Given the description of an element on the screen output the (x, y) to click on. 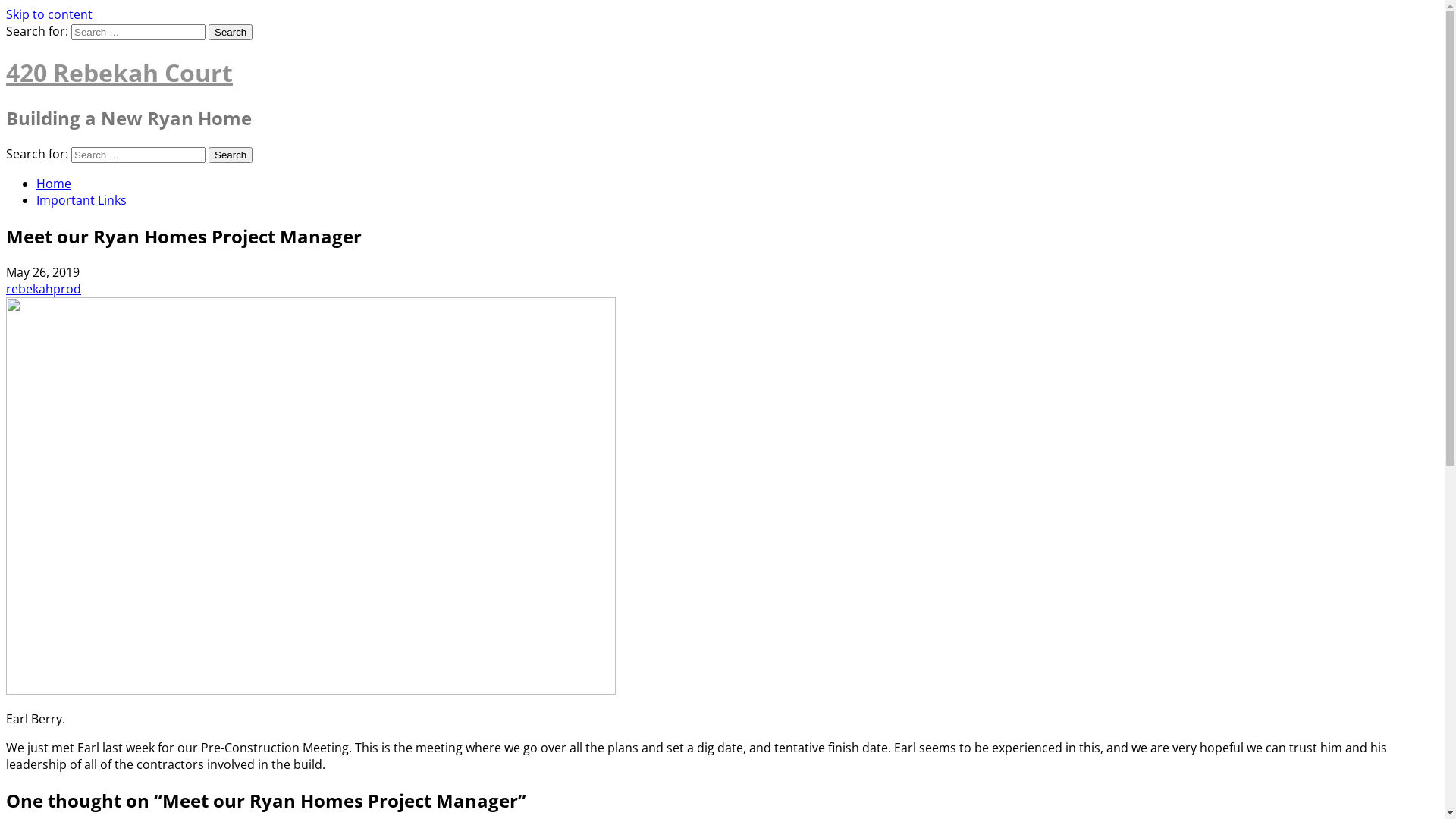
rebekahprod Element type: text (43, 288)
Home Element type: text (53, 183)
Important Links Element type: text (81, 199)
Search Element type: text (230, 32)
420 Rebekah Court Element type: text (119, 72)
Search Element type: text (230, 155)
Skip to content Element type: text (49, 14)
